Given the description of an element on the screen output the (x, y) to click on. 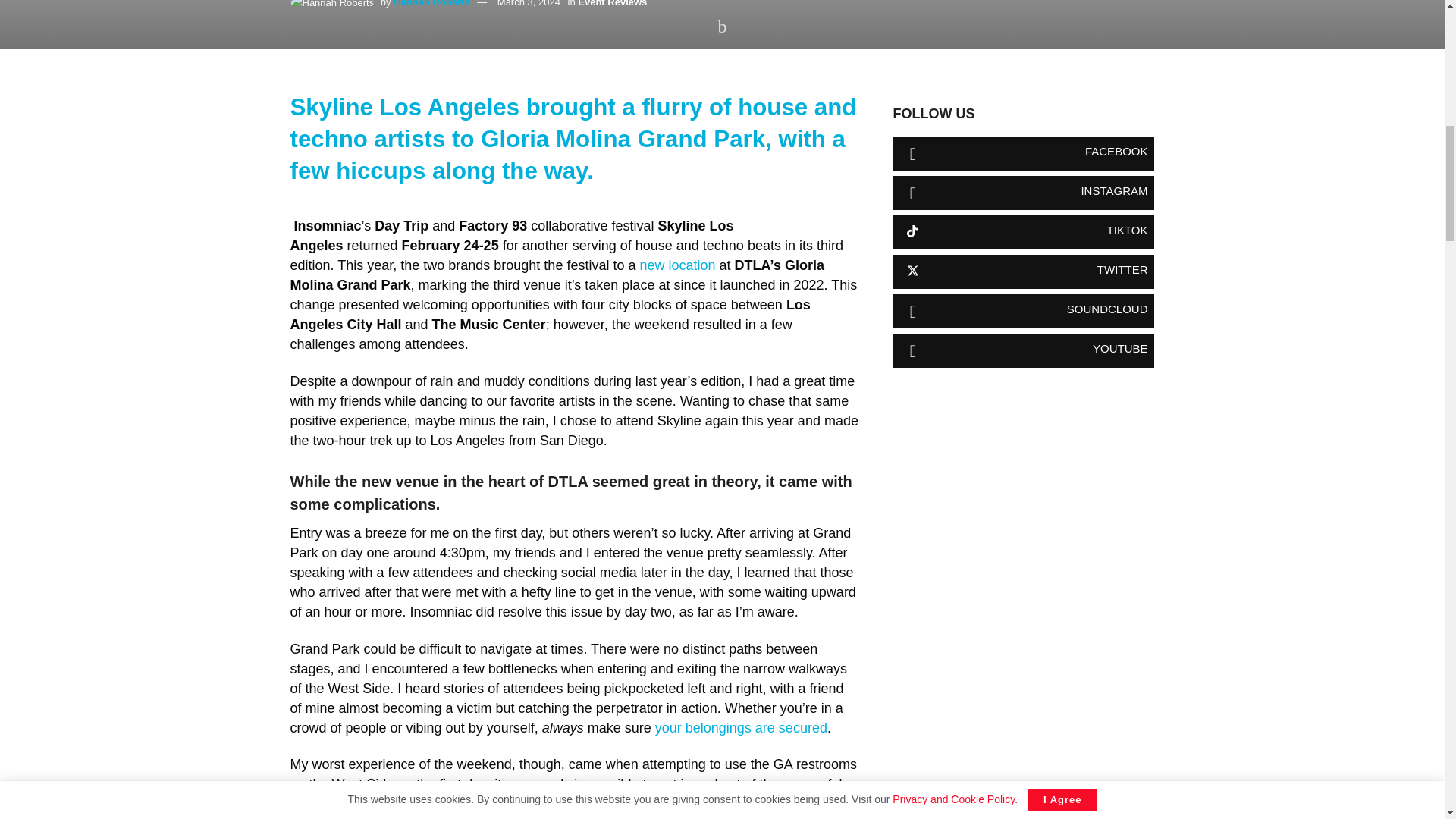
new location (676, 264)
Hannah Roberts (430, 3)
your belongings are secured (741, 727)
Event Reviews (612, 3)
March 3, 2024 (528, 3)
